Given the description of an element on the screen output the (x, y) to click on. 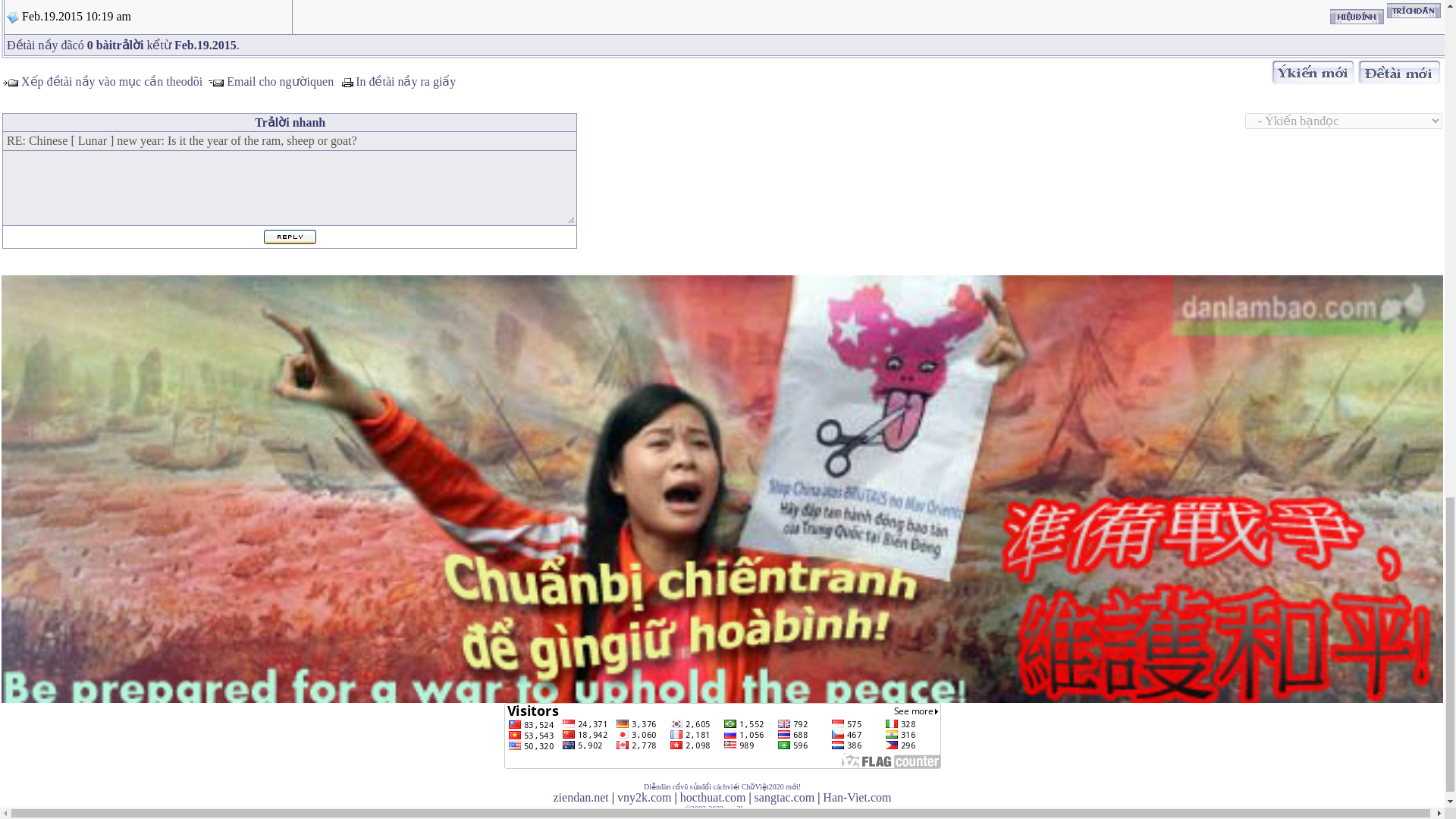
vny2k.com (644, 797)
hocthuat.com (712, 797)
Han-Viet.com (856, 797)
sangtac.com (784, 797)
ziendan.net (580, 797)
